Given the description of an element on the screen output the (x, y) to click on. 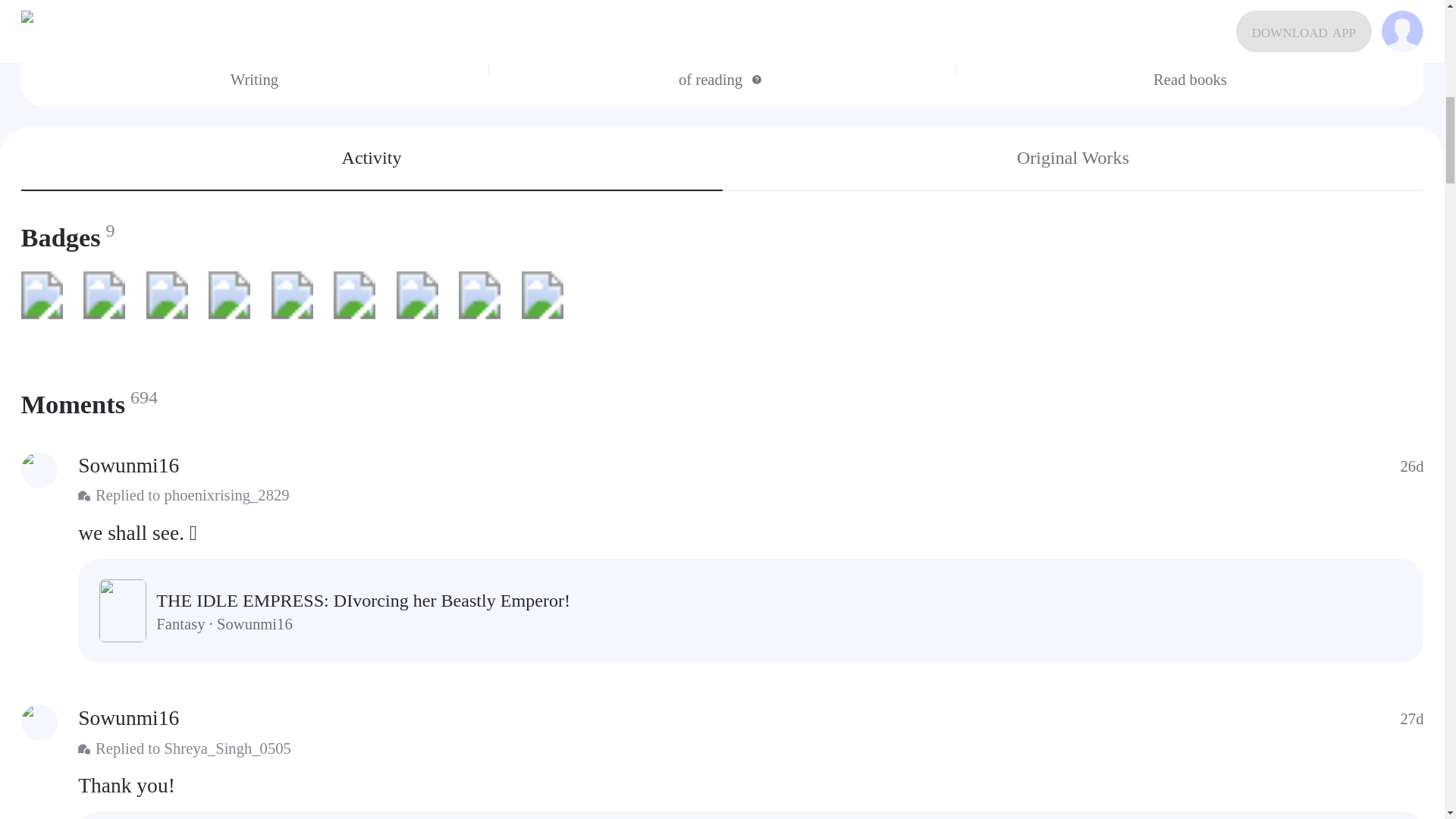
Original Works (1072, 158)
Activity (371, 158)
reply (750, 784)
Original Works (1072, 158)
Activity (371, 158)
reply (750, 531)
